Given the description of an element on the screen output the (x, y) to click on. 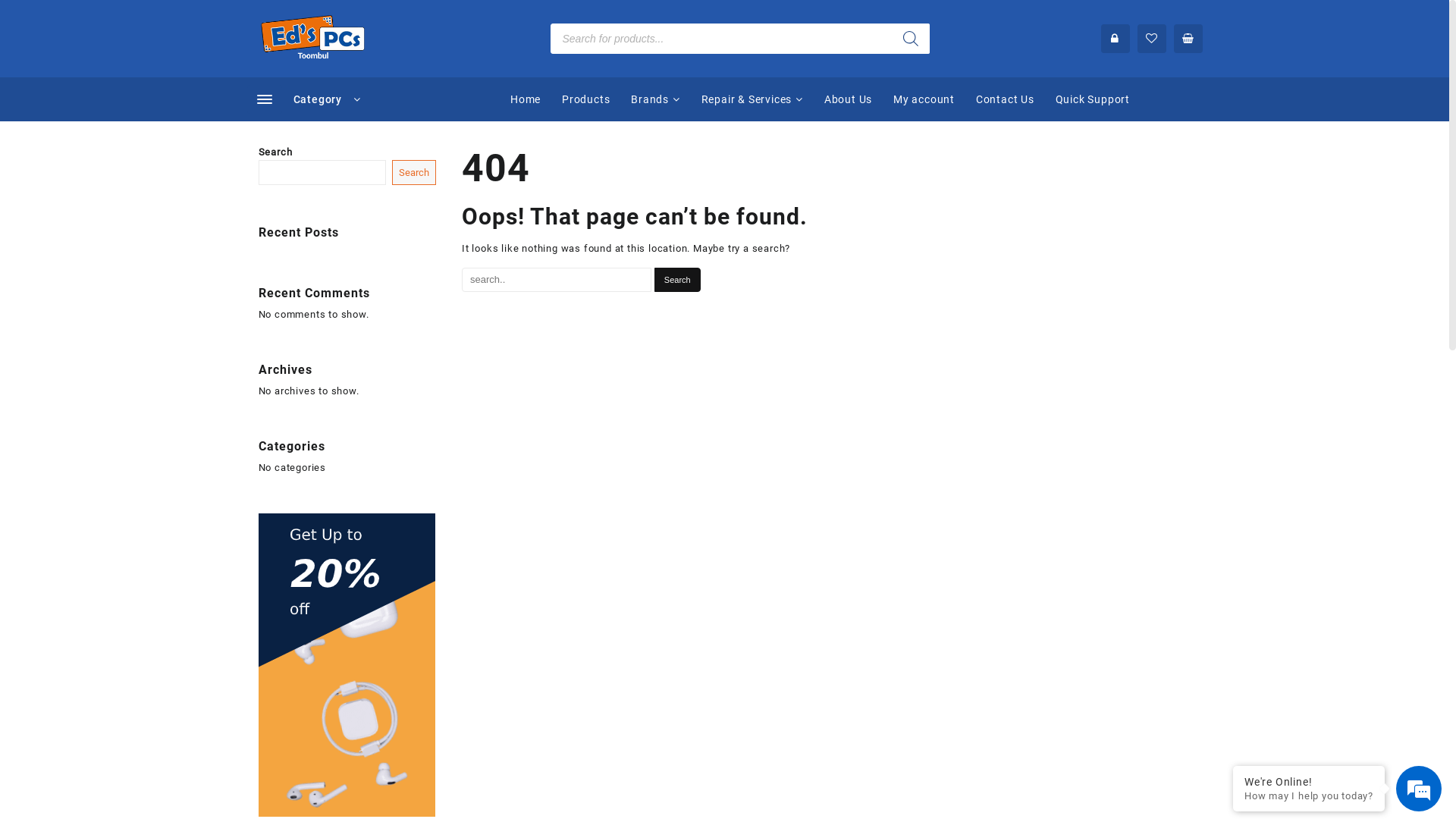
Search Element type: text (414, 172)
Products Element type: text (585, 99)
Brands Element type: text (655, 99)
About Us Element type: text (848, 99)
Search Element type: text (677, 279)
Contact Us Element type: text (1004, 99)
Quick Support Element type: text (1092, 99)
Home Element type: text (525, 99)
Repair & Services Element type: text (752, 99)
My account Element type: text (923, 99)
